Given the description of an element on the screen output the (x, y) to click on. 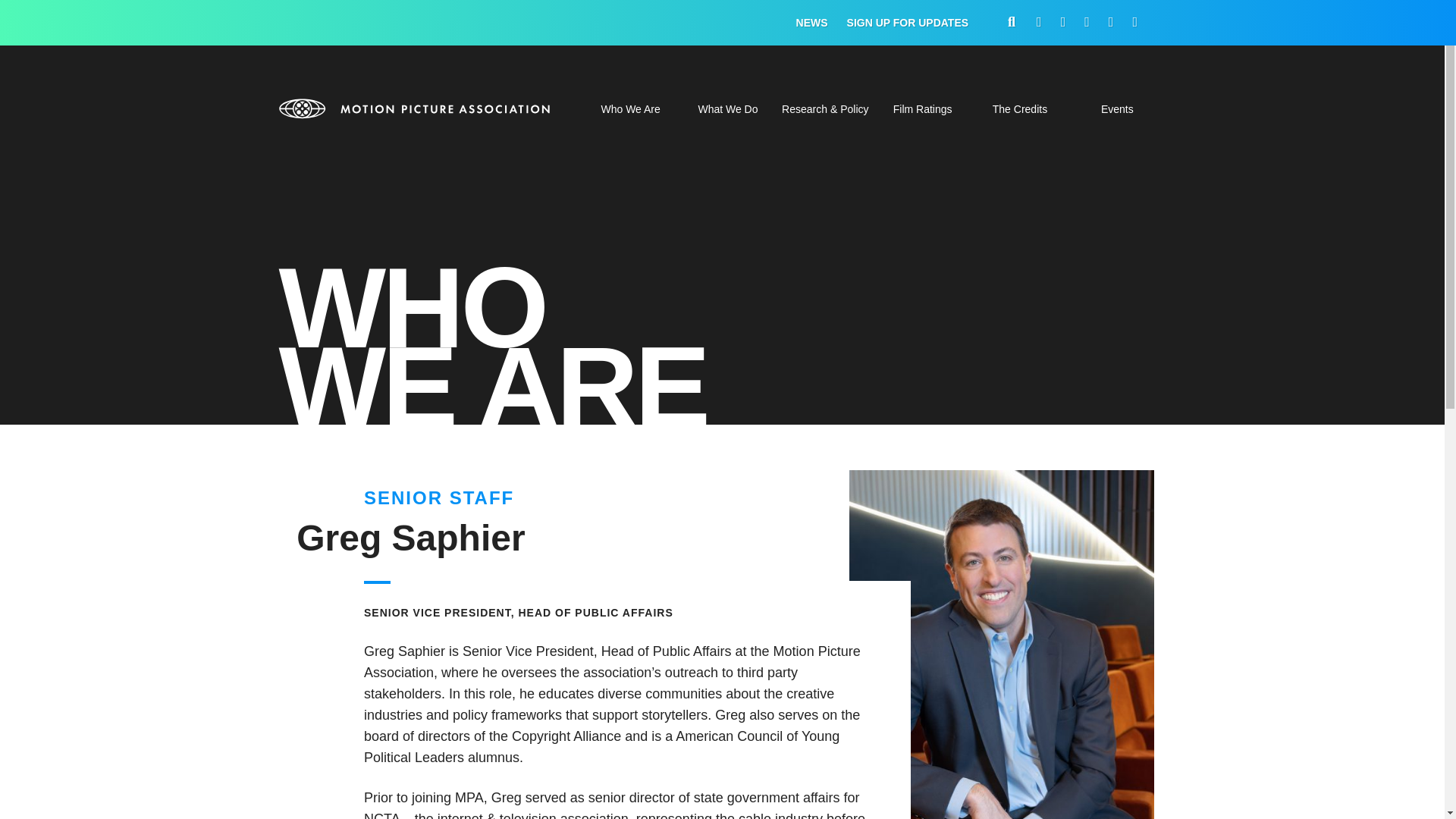
Who We Are (629, 117)
mpa-banner-bt (415, 108)
mpa-banner-bt (415, 108)
NEWS (812, 22)
Search (1077, 408)
SIGN UP FOR UPDATES (908, 22)
